Given the description of an element on the screen output the (x, y) to click on. 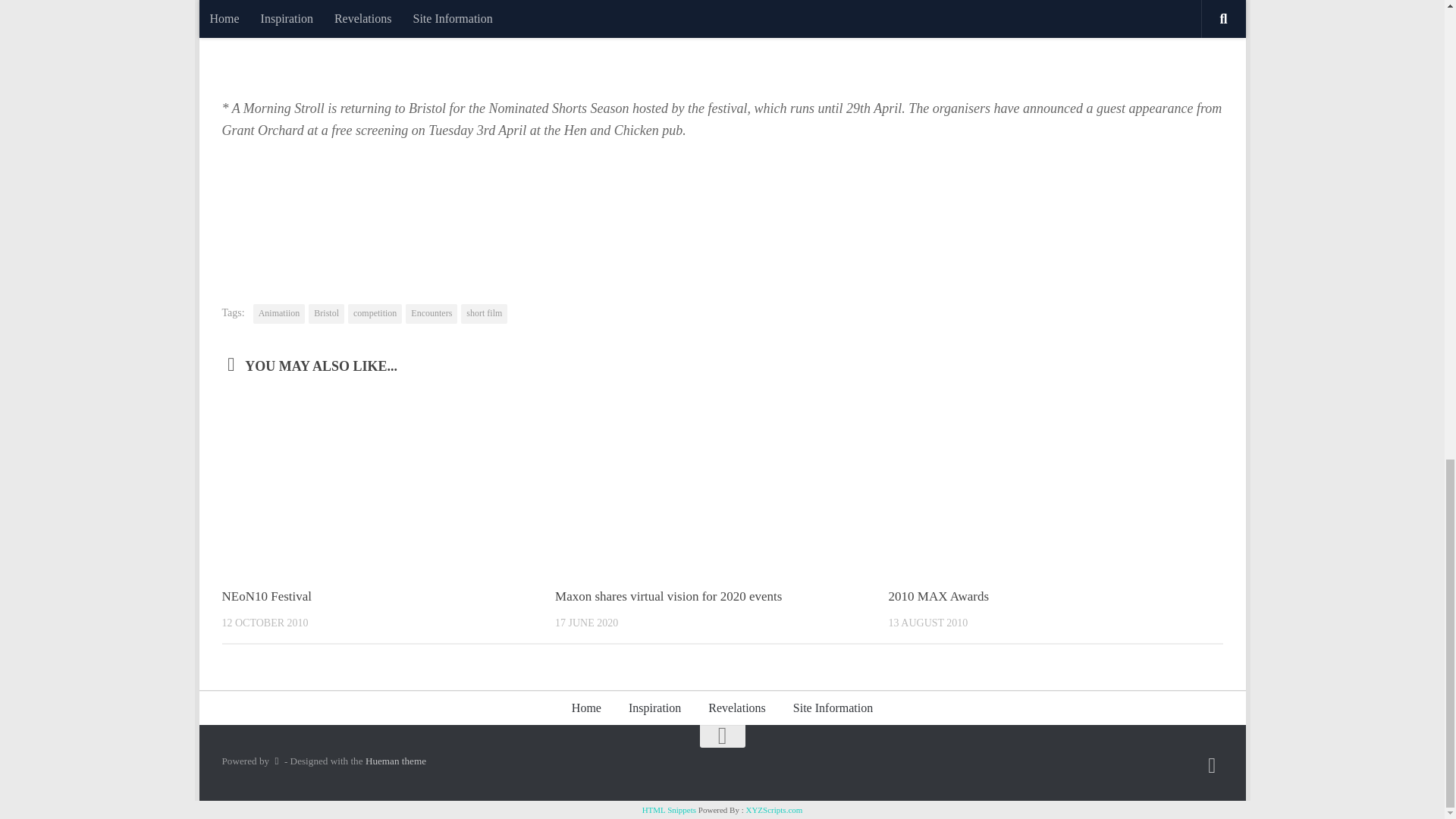
short film (483, 313)
Bristol (325, 313)
competition (374, 313)
Hueman theme (395, 760)
Powered by WordPress (275, 760)
NEoN10 Festival (266, 595)
Maxon shares virtual vision for 2020 events (667, 595)
Site Information (832, 707)
Animatiion (279, 313)
Insert HTML Snippet Wordpress Plugin (668, 809)
